Given the description of an element on the screen output the (x, y) to click on. 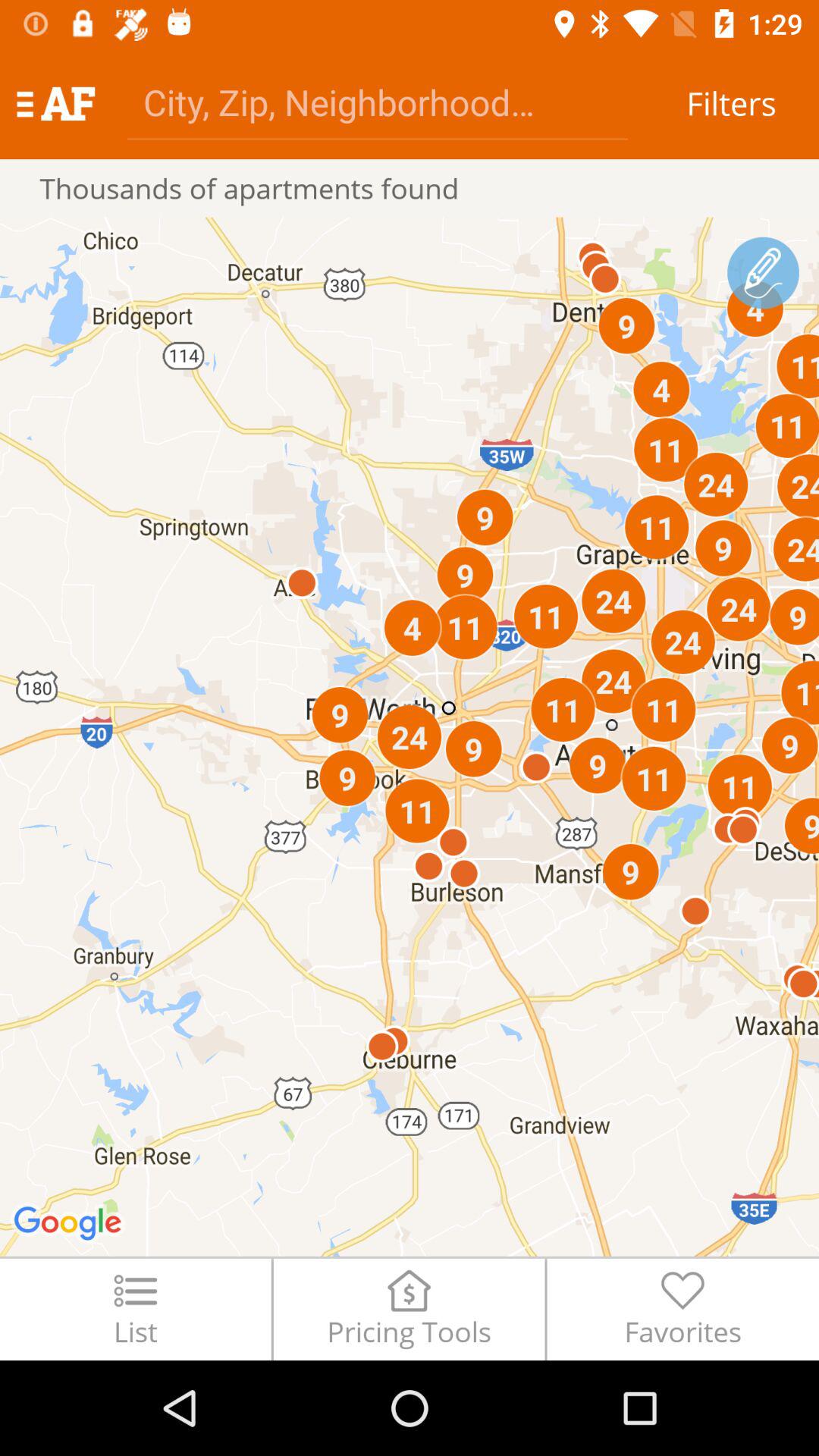
tap icon above the favorites item (763, 272)
